Given the description of an element on the screen output the (x, y) to click on. 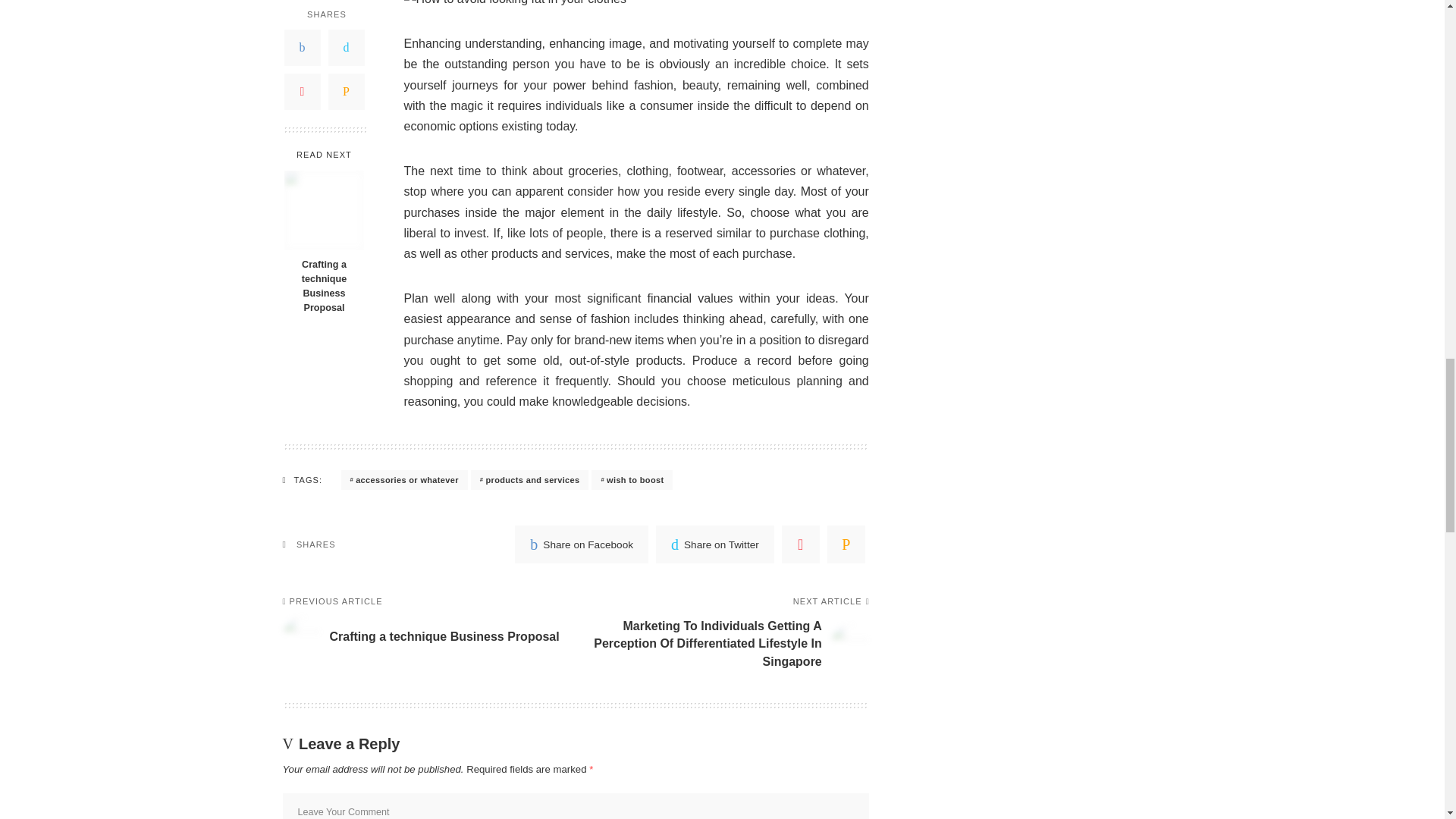
accessories or whatever (403, 479)
accessories or whatever (403, 479)
products and services (529, 479)
Share on Twitter (715, 544)
wish to boost (631, 479)
Share on Facebook (421, 633)
